Given the description of an element on the screen output the (x, y) to click on. 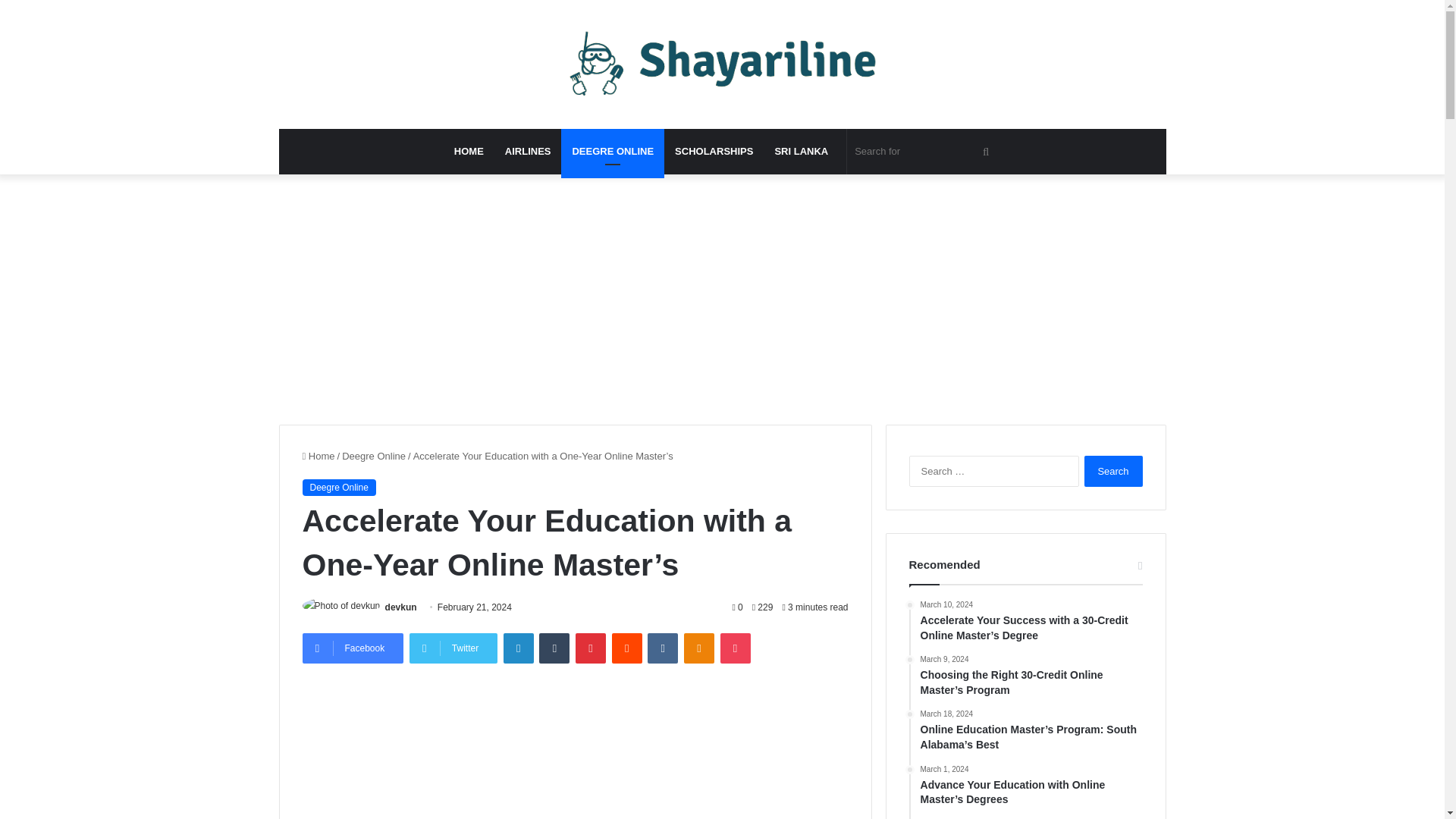
DEEGRE ONLINE (611, 151)
Search (1113, 470)
Tumblr (553, 648)
HOME (469, 151)
LinkedIn (518, 648)
Pinterest (590, 648)
Facebook (352, 648)
Home (317, 455)
Pocket (735, 648)
Odnoklassniki (699, 648)
LinkedIn (518, 648)
Facebook (352, 648)
Twitter (453, 648)
Pocket (735, 648)
Tumblr (553, 648)
